Given the description of an element on the screen output the (x, y) to click on. 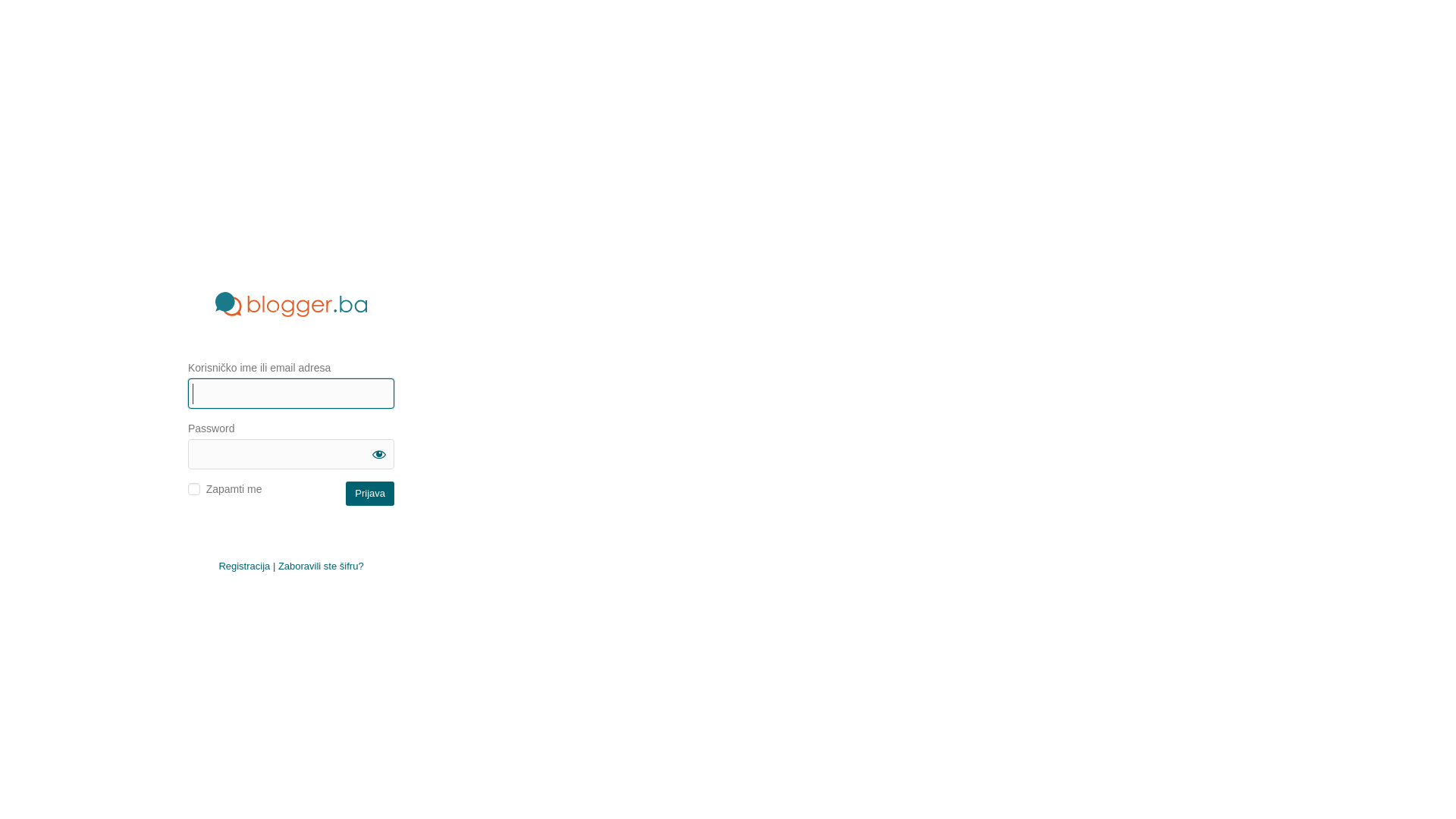
Registracija Element type: text (243, 565)
Prijava Element type: text (369, 493)
